Given the description of an element on the screen output the (x, y) to click on. 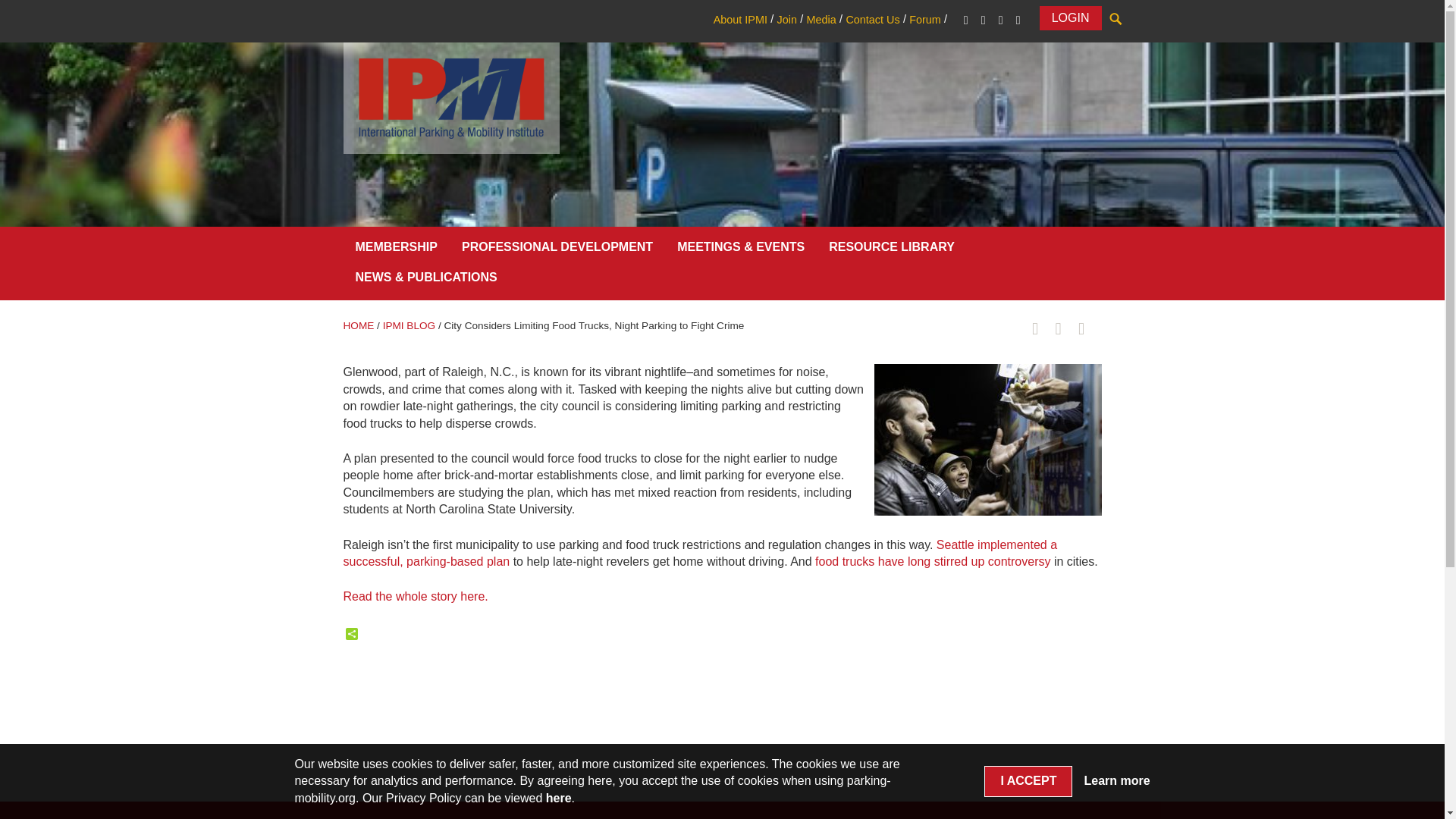
Go to the IPMI Blog category archives. (408, 325)
PROFESSIONAL DEVELOPMENT (557, 250)
Join (786, 19)
Media (821, 19)
Contact Us (872, 19)
About IPMI (740, 19)
RESOURCE LIBRARY (891, 250)
MEMBERSHIP (395, 250)
Forum (924, 19)
